Given the description of an element on the screen output the (x, y) to click on. 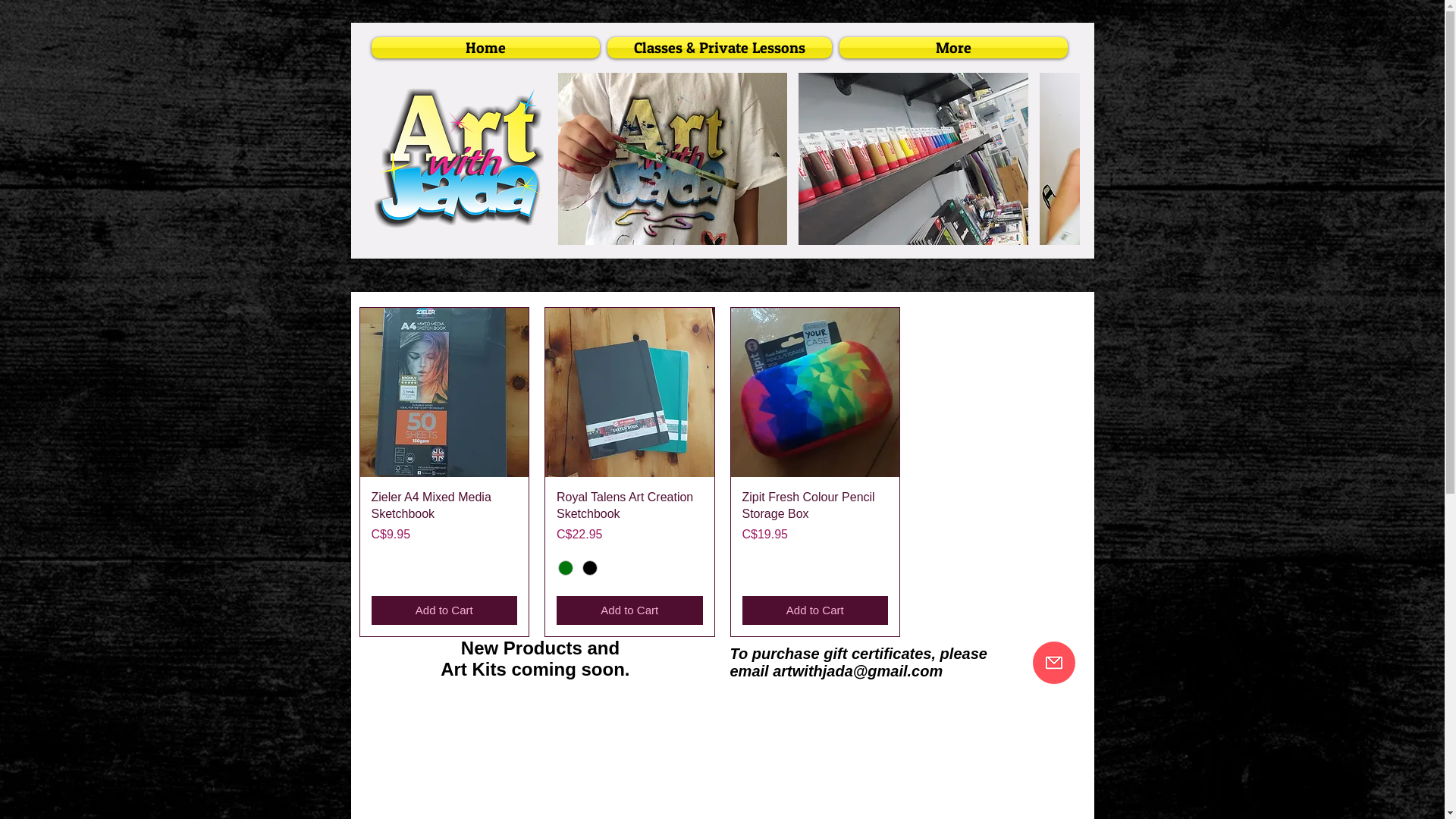
Royal Talens Art Creation Sketchbook
Price
C$22.95 Element type: text (629, 515)
Add to Cart Element type: text (629, 610)
Zipit Fresh Colour Pencil Storage Box
Price
C$19.95 Element type: text (814, 537)
Add to Cart Element type: text (444, 610)
Classes & Private Lessons Element type: text (719, 47)
Zieler A4 Mixed Media Sketchbook
Price
C$9.95 Element type: text (444, 537)
Home Element type: text (487, 47)
Add to Cart Element type: text (814, 610)
artwithjada@gmail.com Element type: text (857, 670)
